Given the description of an element on the screen output the (x, y) to click on. 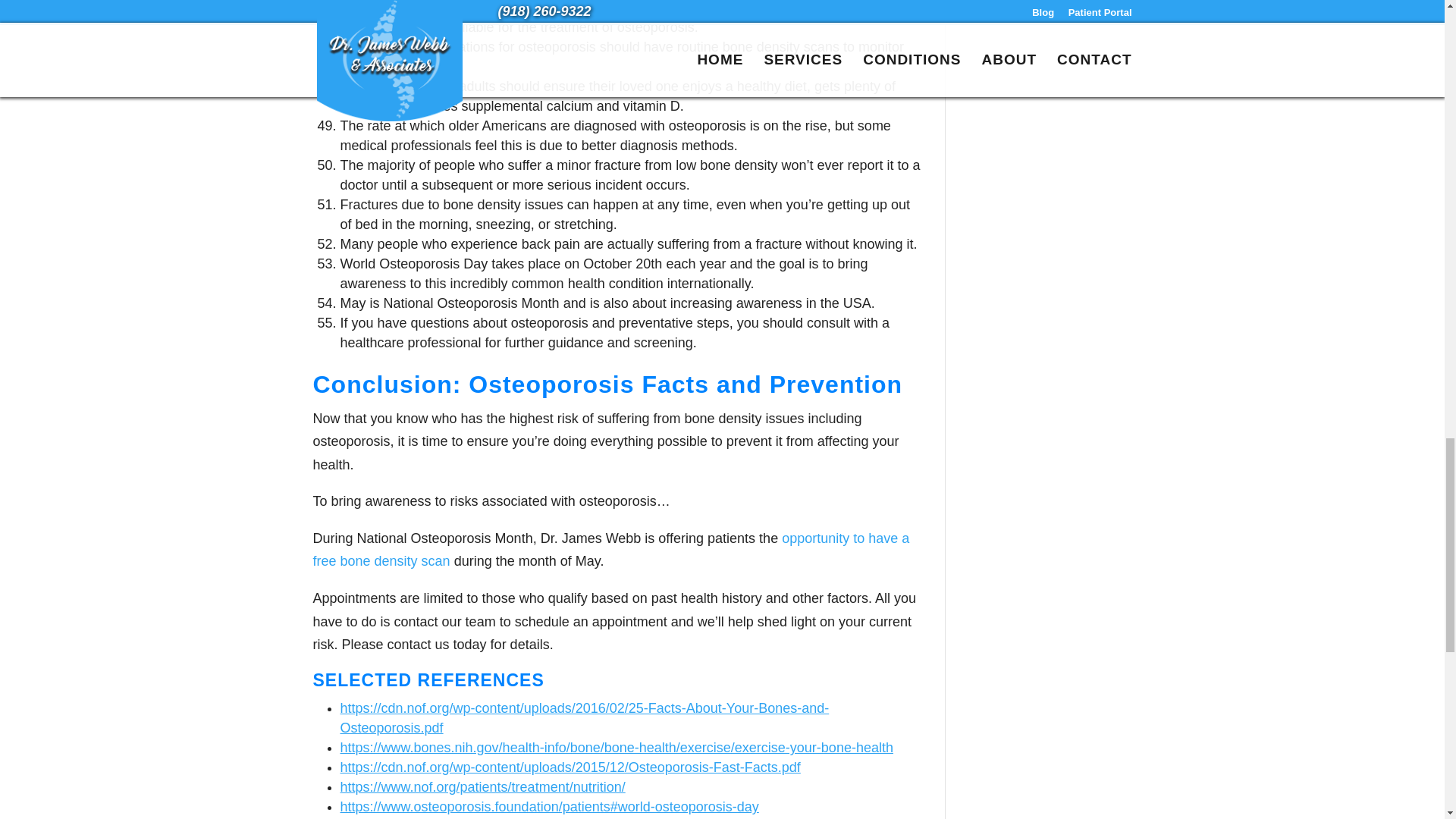
opportunity to have a free bone density scan (610, 549)
